Given the description of an element on the screen output the (x, y) to click on. 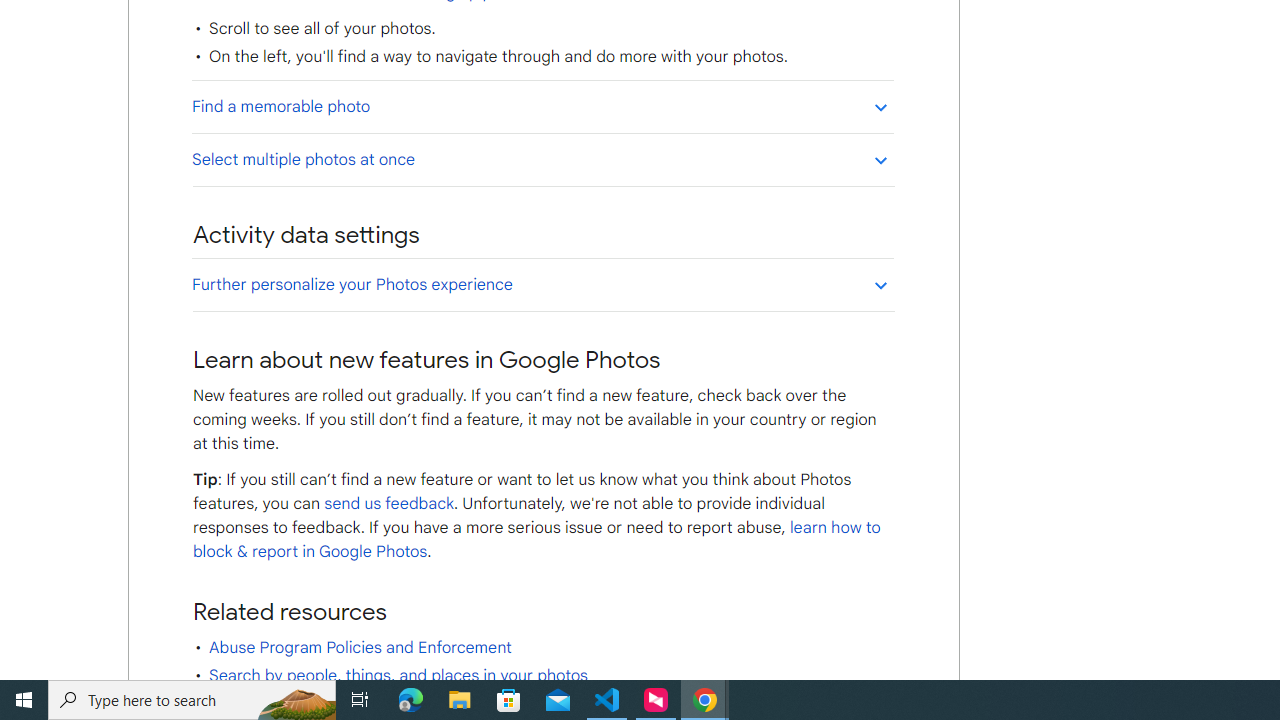
Find a memorable photo (542, 106)
Select multiple photos at once (542, 159)
learn how to block & report in Google Photos (536, 539)
Abuse Program Policies and Enforcement (360, 647)
Search by people, things, and places in your photos (397, 676)
send us feedback (388, 503)
Further personalize your Photos experience (542, 284)
